Given the description of an element on the screen output the (x, y) to click on. 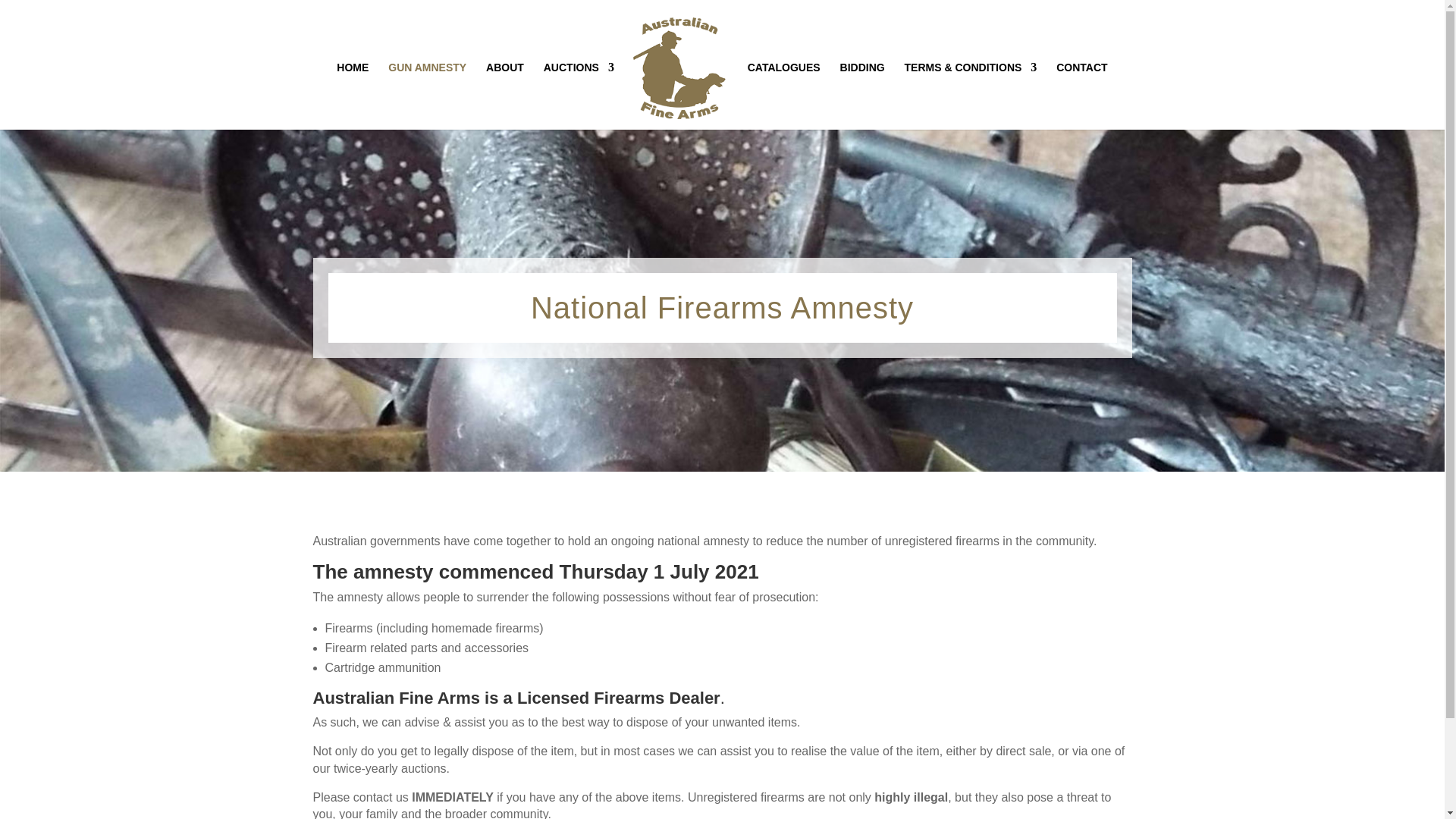
GUN AMNESTY (426, 95)
CATALOGUES (784, 95)
BIDDING (862, 95)
CONTACT (1081, 95)
HOME (352, 95)
ABOUT (505, 95)
AUCTIONS (578, 95)
